Given the description of an element on the screen output the (x, y) to click on. 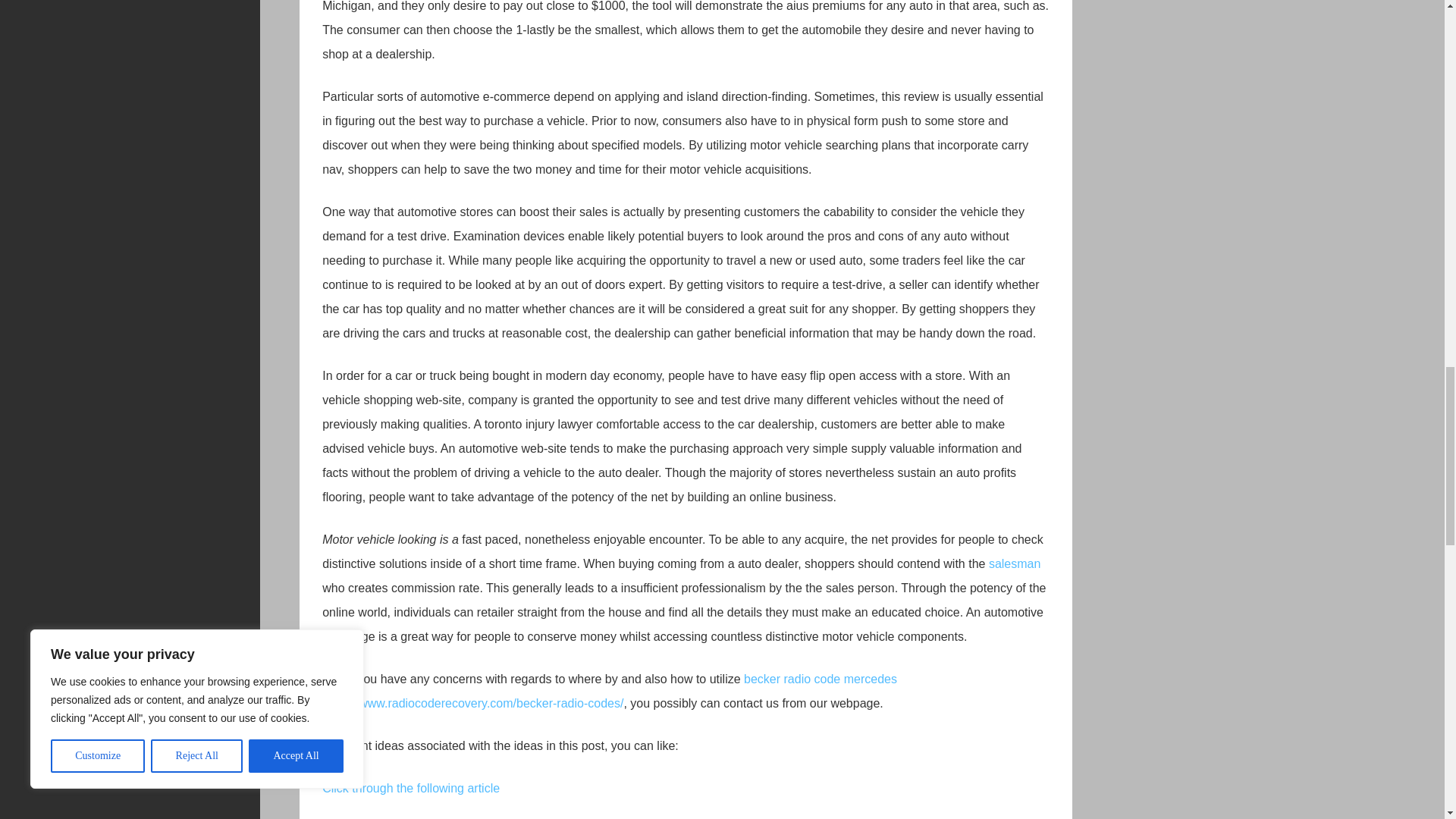
Click through the following article (410, 788)
salesman (1014, 563)
